Given the description of an element on the screen output the (x, y) to click on. 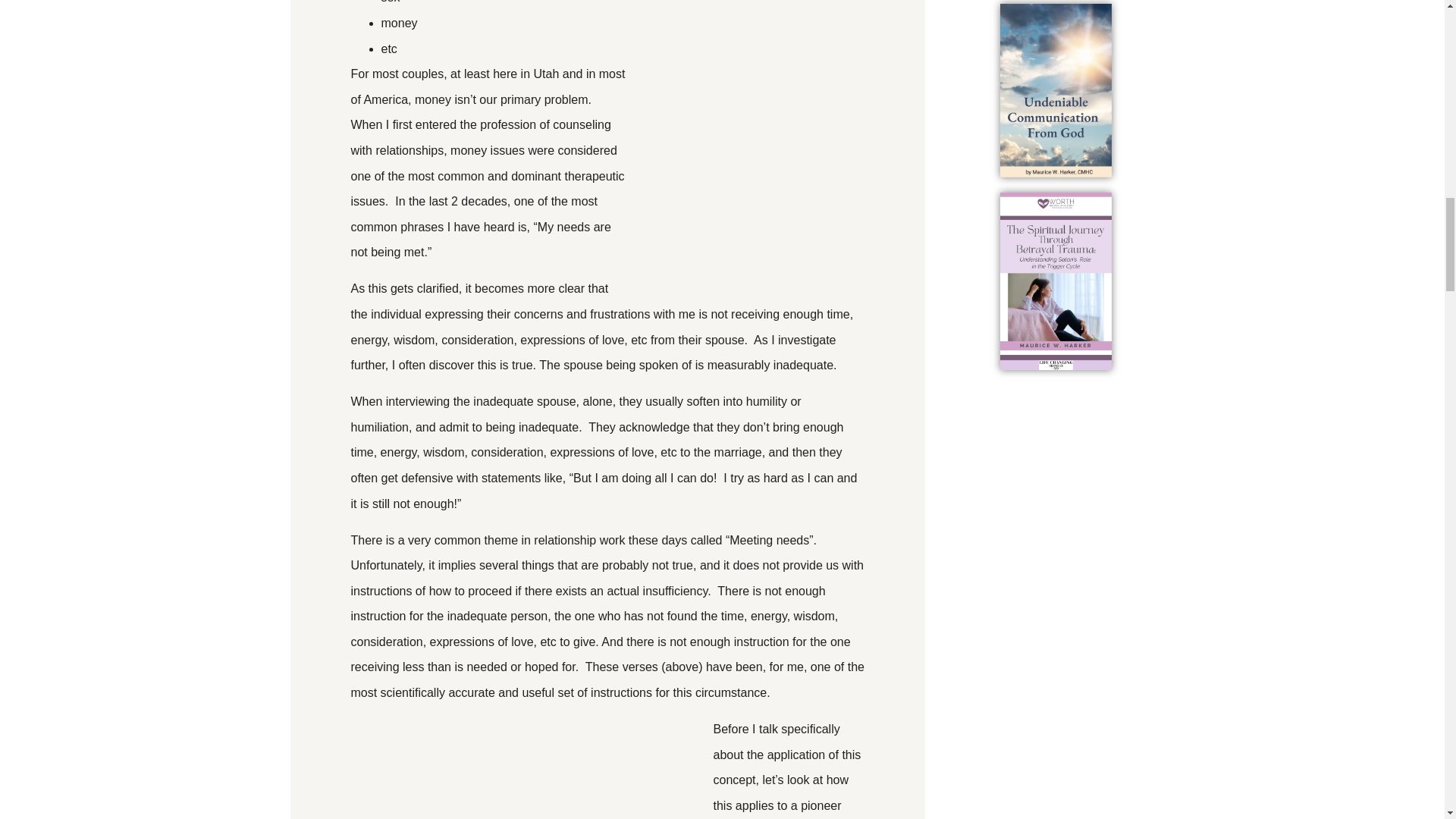
What To Do When You Have an Inadequate Spouse (525, 767)
What To Do When You Have an Inadequate Spouse (750, 175)
